Given the description of an element on the screen output the (x, y) to click on. 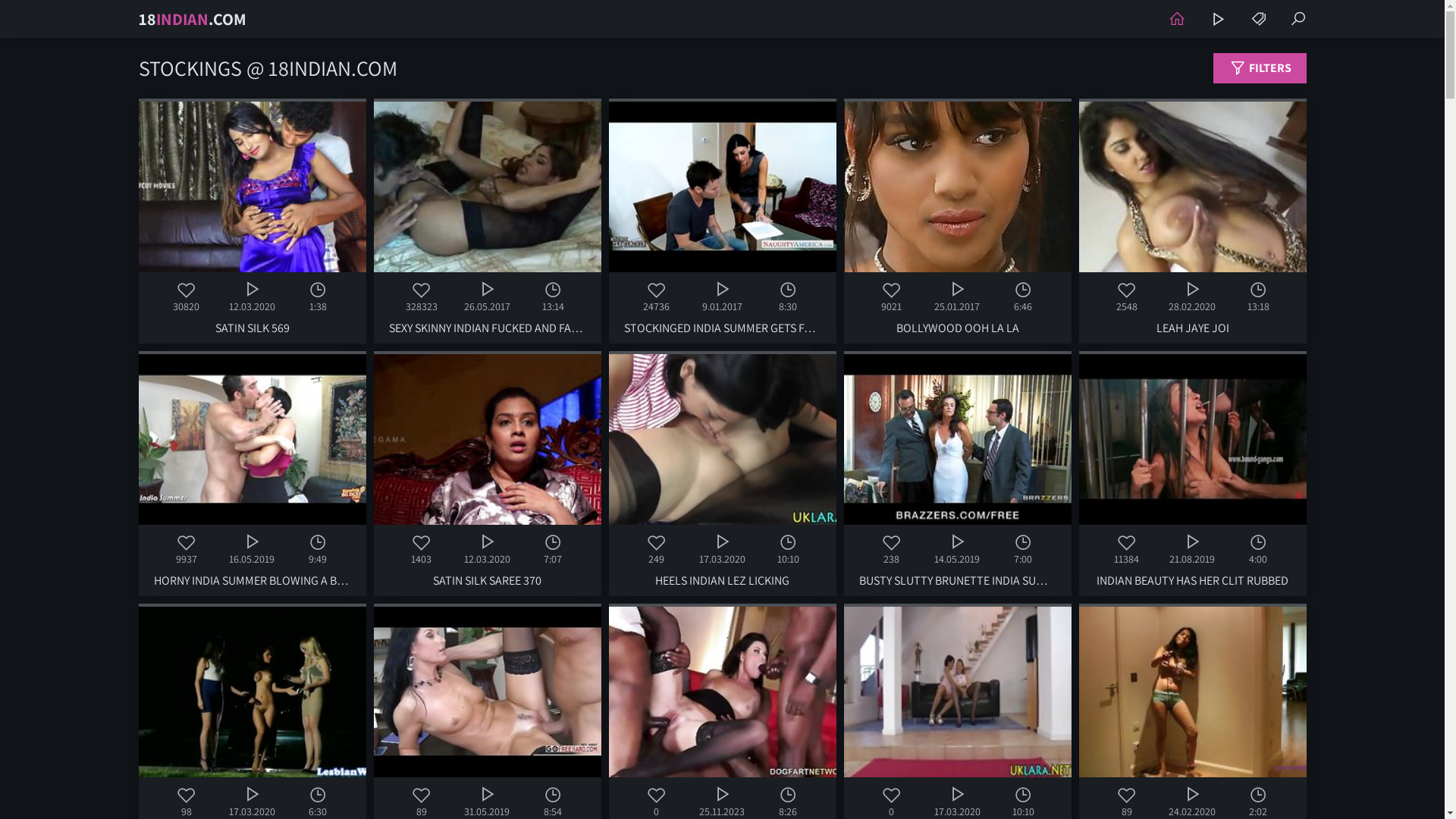
Porn Sites Element type: hover (1257, 18)
30820
12.03.2020
1:38
SATIN SILK 569 Element type: text (251, 220)
18INDIAN.COM Element type: text (191, 18)
1403
12.03.2020
7:07
SATIN SILK SAREE 370 Element type: text (486, 473)
24736
9.01.2017
8:30
STOCKINGED INDIA SUMMER GETS FACIALIZED Element type: text (721, 220)
249
17.03.2020
10:10
HEELS INDIAN LEZ LICKING Element type: text (721, 473)
Home Element type: hover (1175, 18)
9937
16.05.2019
9:49
HORNY INDIA SUMMER BLOWING A BIG DICK Element type: text (251, 473)
Search Element type: hover (1297, 18)
2548
28.02.2020
13:18
LEAH JAYE JOI Element type: text (1191, 220)
9021
25.01.2017
6:46
BOLLYWOOD OOH LA LA Element type: text (956, 220)
11384
21.08.2019
4:00
INDIAN BEAUTY HAS HER CLIT RUBBED Element type: text (1191, 473)
LiveSexHookers Element type: hover (1216, 18)
